Given the description of an element on the screen output the (x, y) to click on. 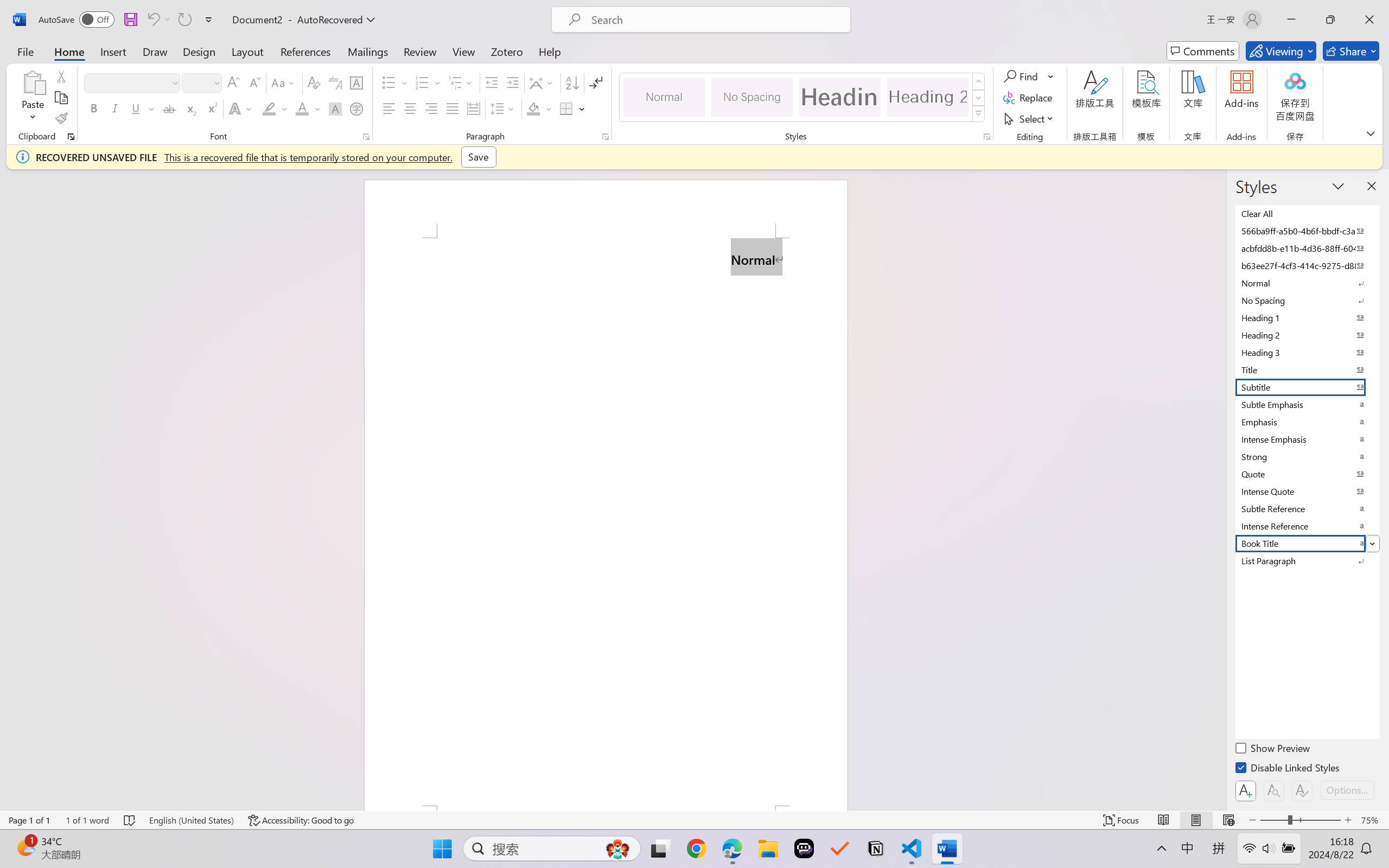
Clear All (1306, 213)
Subtle Emphasis (1306, 404)
Change Case (284, 82)
Zoom 75% (1372, 819)
Heading 1 (839, 96)
Text Effects and Typography (241, 108)
Show/Hide Editing Marks (595, 82)
Justify (452, 108)
Normal (1306, 282)
Emphasis (1306, 421)
